Given the description of an element on the screen output the (x, y) to click on. 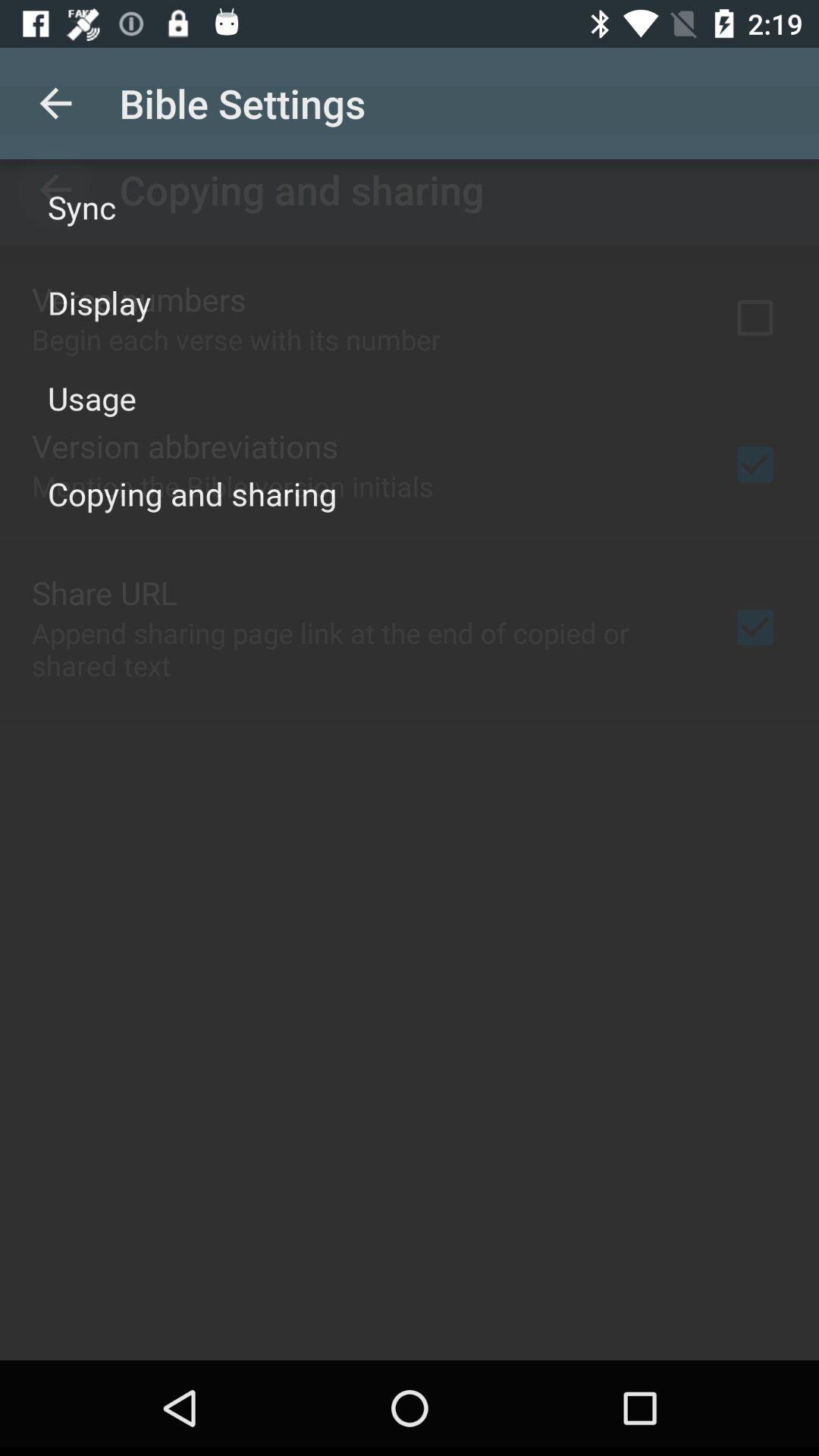
swipe to sync icon (81, 206)
